Given the description of an element on the screen output the (x, y) to click on. 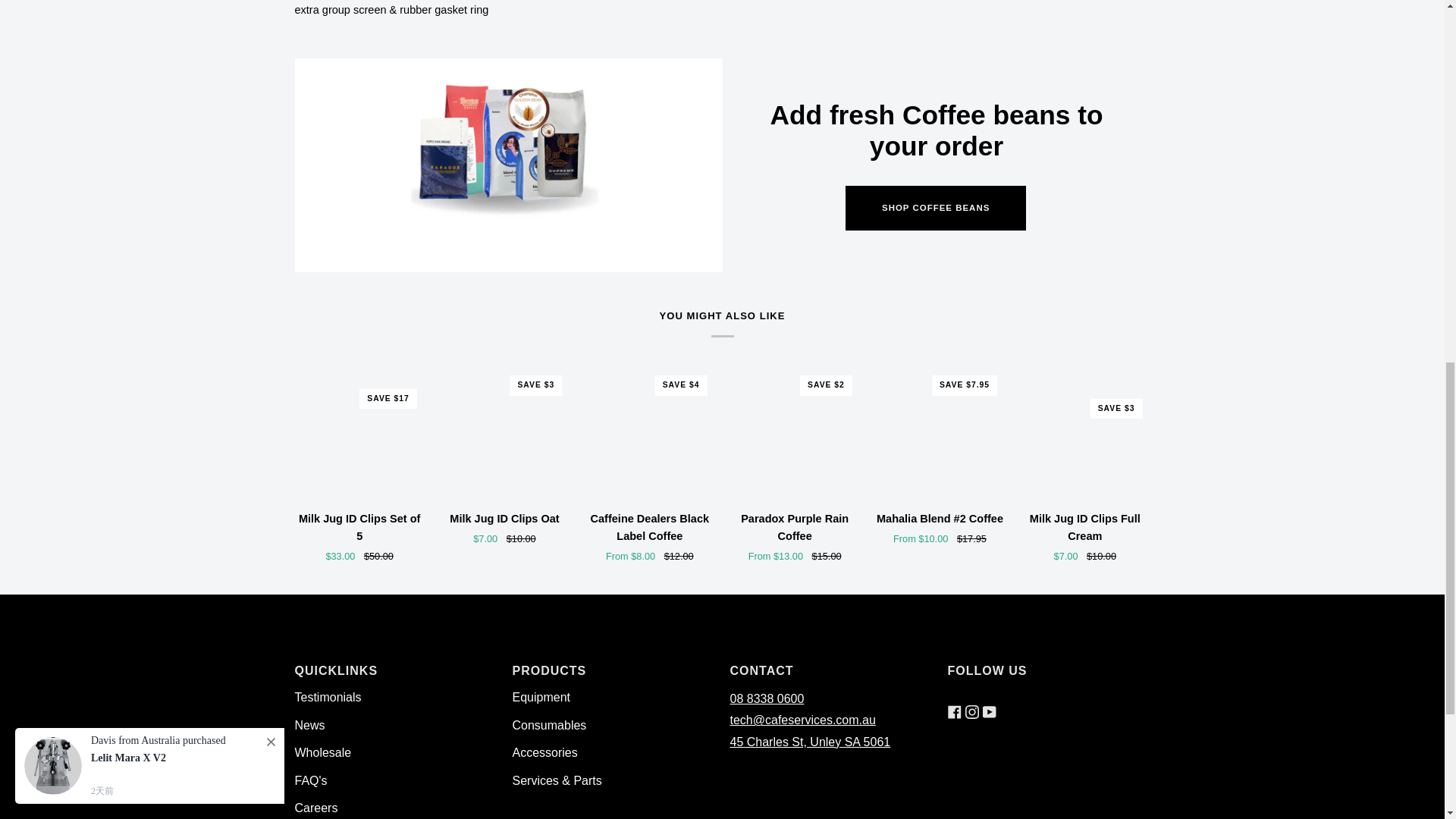
Instagram (970, 698)
tel:0883380600 (766, 698)
YouTube (988, 698)
Facebook (953, 698)
